Given the description of an element on the screen output the (x, y) to click on. 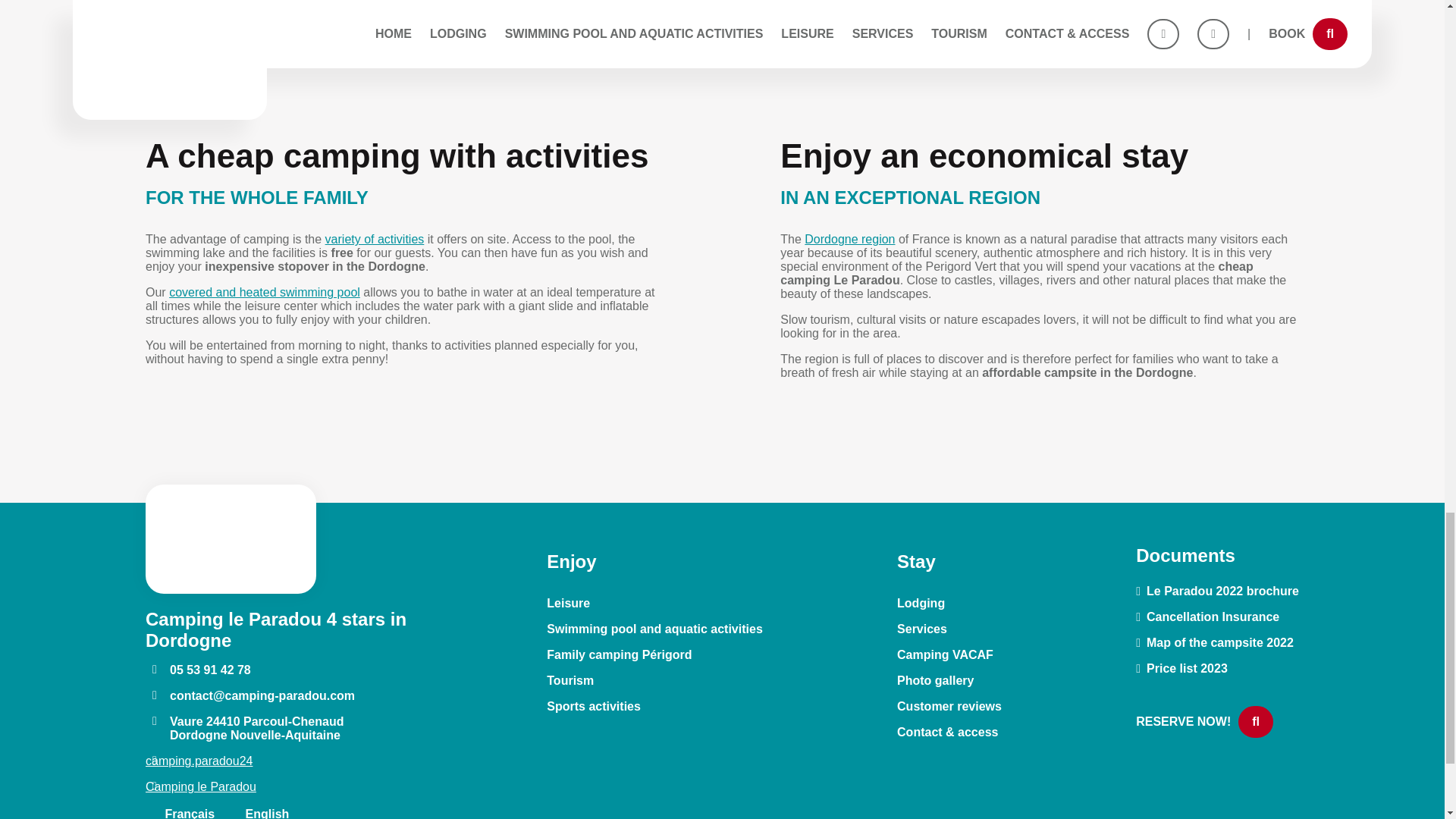
Customer reviews (948, 706)
Stay (916, 561)
05 53 91 42 78 (197, 670)
English (257, 813)
variety of activities (374, 238)
Leisure (568, 603)
Dordogne region (850, 238)
Services (921, 629)
Enjoy (571, 561)
camping.paradou24 (198, 760)
